Given the description of an element on the screen output the (x, y) to click on. 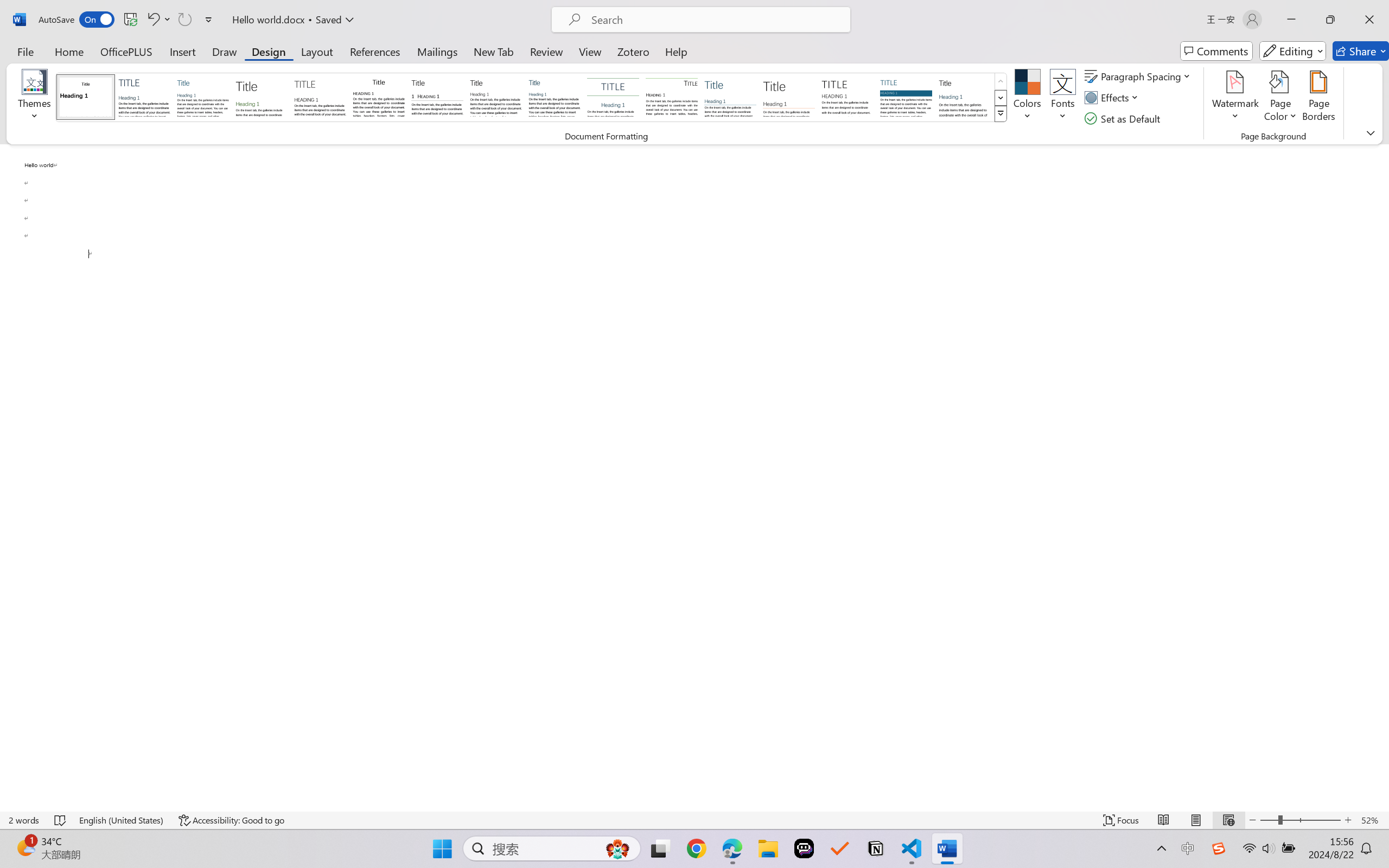
AutoSave (76, 19)
AutomationID: BadgeAnchorLargeTicker (24, 847)
Lines (Distinctive) (671, 96)
Comments (1216, 50)
Print Layout (1196, 819)
Lines (Simple) (730, 96)
Colors (1027, 97)
Document (85, 96)
AutomationID: DynamicSearchBoxGleamImage (617, 848)
Page Color (1280, 97)
Watermark (1235, 97)
Shaded (905, 96)
Quick Access Toolbar (127, 19)
Undo Click and Type Formatting (158, 19)
